Given the description of an element on the screen output the (x, y) to click on. 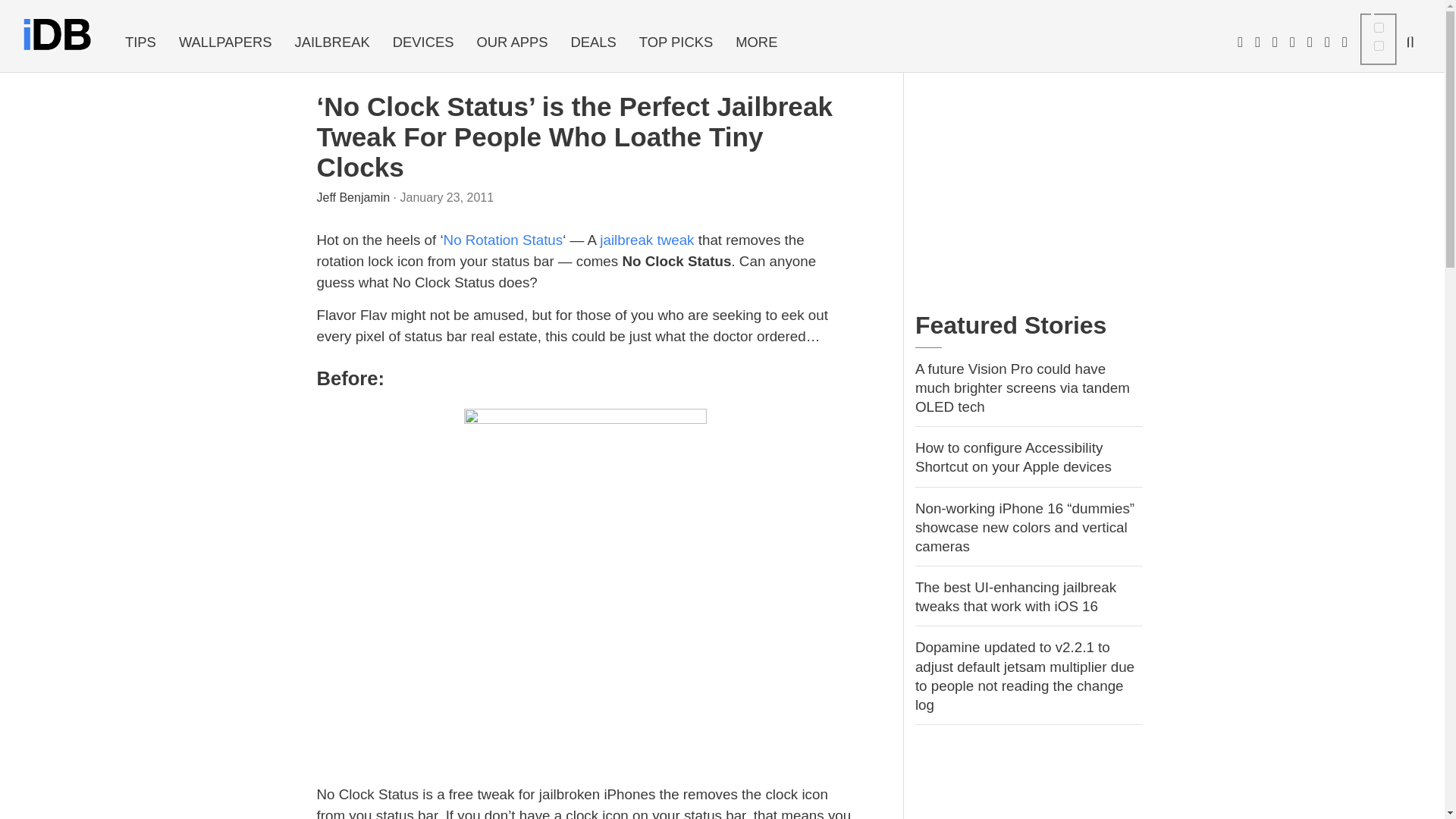
TIPS (140, 42)
DEVICES (423, 42)
Tips (140, 42)
Wallpapers (225, 42)
JAILBREAK (332, 42)
WALLPAPERS (225, 42)
OUR APPS (511, 42)
